Given the description of an element on the screen output the (x, y) to click on. 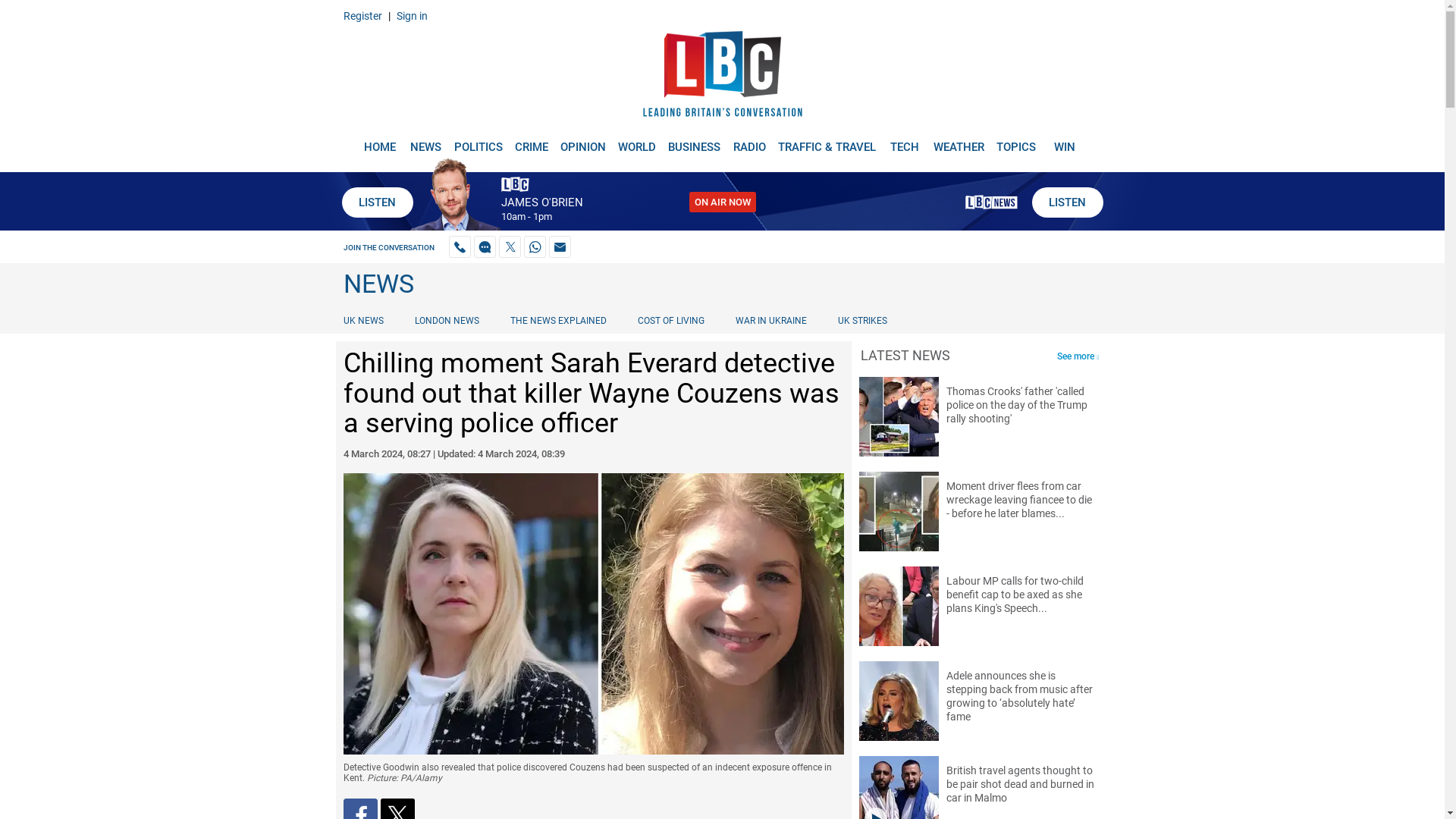
WORLD (636, 140)
LISTEN (1066, 202)
Register (361, 15)
LBC (722, 77)
TECH (904, 140)
CRIME (531, 140)
POLITICS (478, 140)
OPINION (582, 140)
TOPICS (1016, 140)
THE NEWS EXPLAINED (558, 320)
LONDON NEWS (446, 320)
BUSINESS (694, 140)
RADIO (748, 140)
NEWS (425, 140)
UK STRIKES (862, 320)
